Given the description of an element on the screen output the (x, y) to click on. 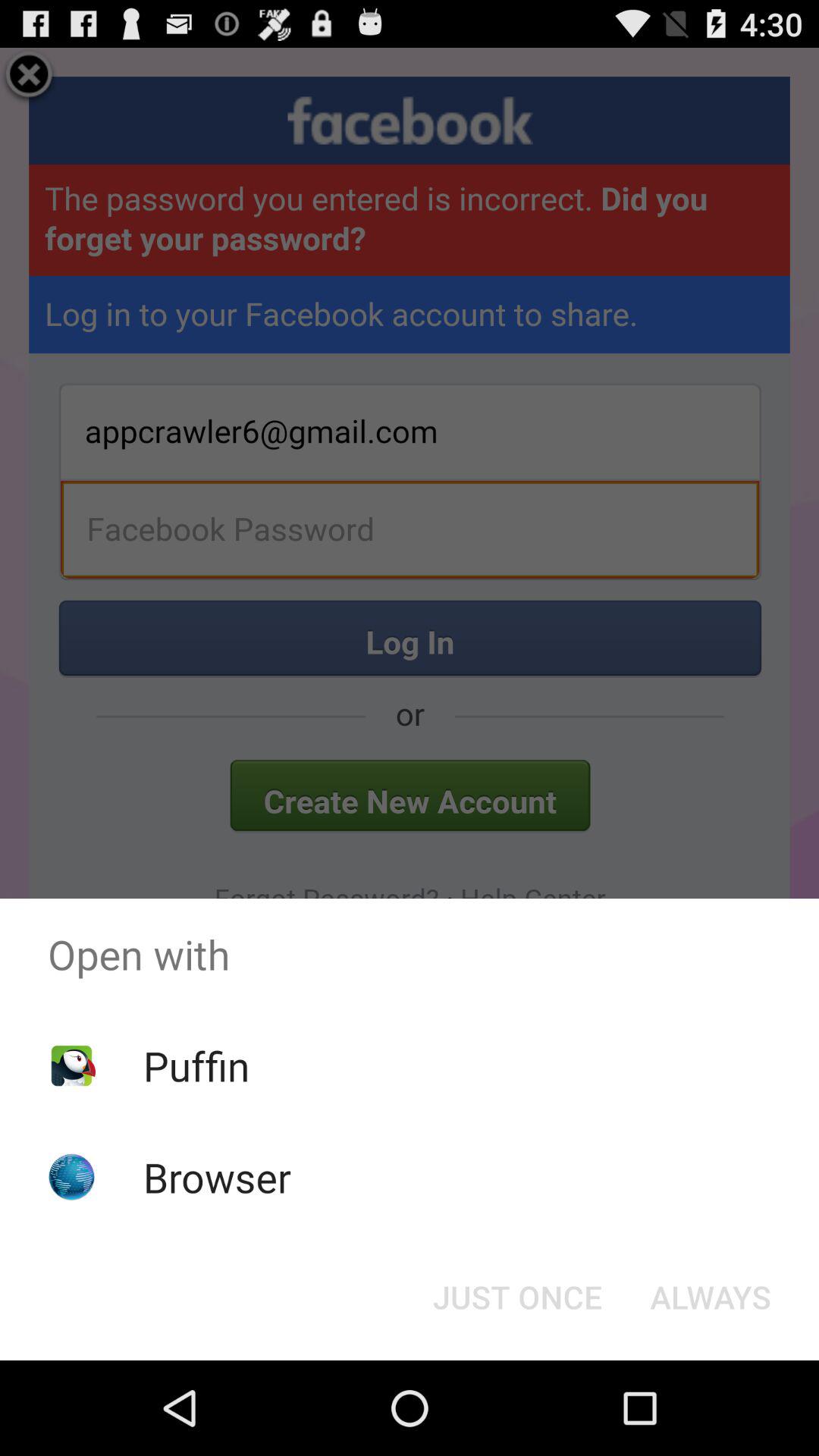
flip to browser app (217, 1176)
